Given the description of an element on the screen output the (x, y) to click on. 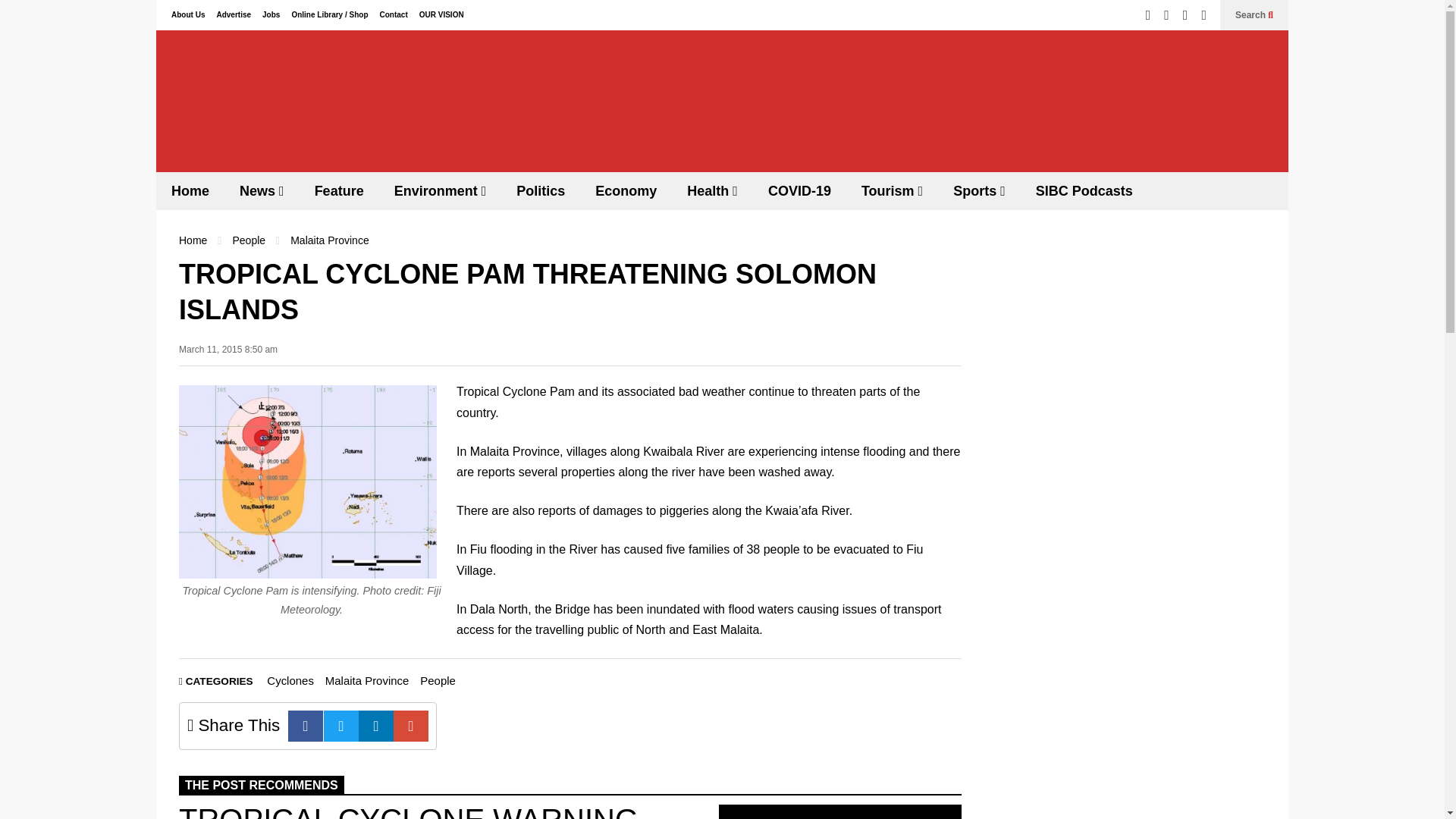
Home (189, 190)
SIBC Podcasts (1084, 190)
OUR VISION (441, 14)
Environment (440, 190)
Twitter (340, 726)
E-mail (410, 726)
TROPICAL CYCLONE WARNING CURRENT FOR SOLOMON ISLANDS (839, 811)
Contact (392, 14)
Jobs (270, 14)
Health (711, 190)
Politics (539, 190)
News (261, 190)
Economy (625, 190)
Tourism (891, 190)
TROPICAL CYCLONE WARNING CURRENT FOR SOLOMON ISLANDS (409, 811)
